Given the description of an element on the screen output the (x, y) to click on. 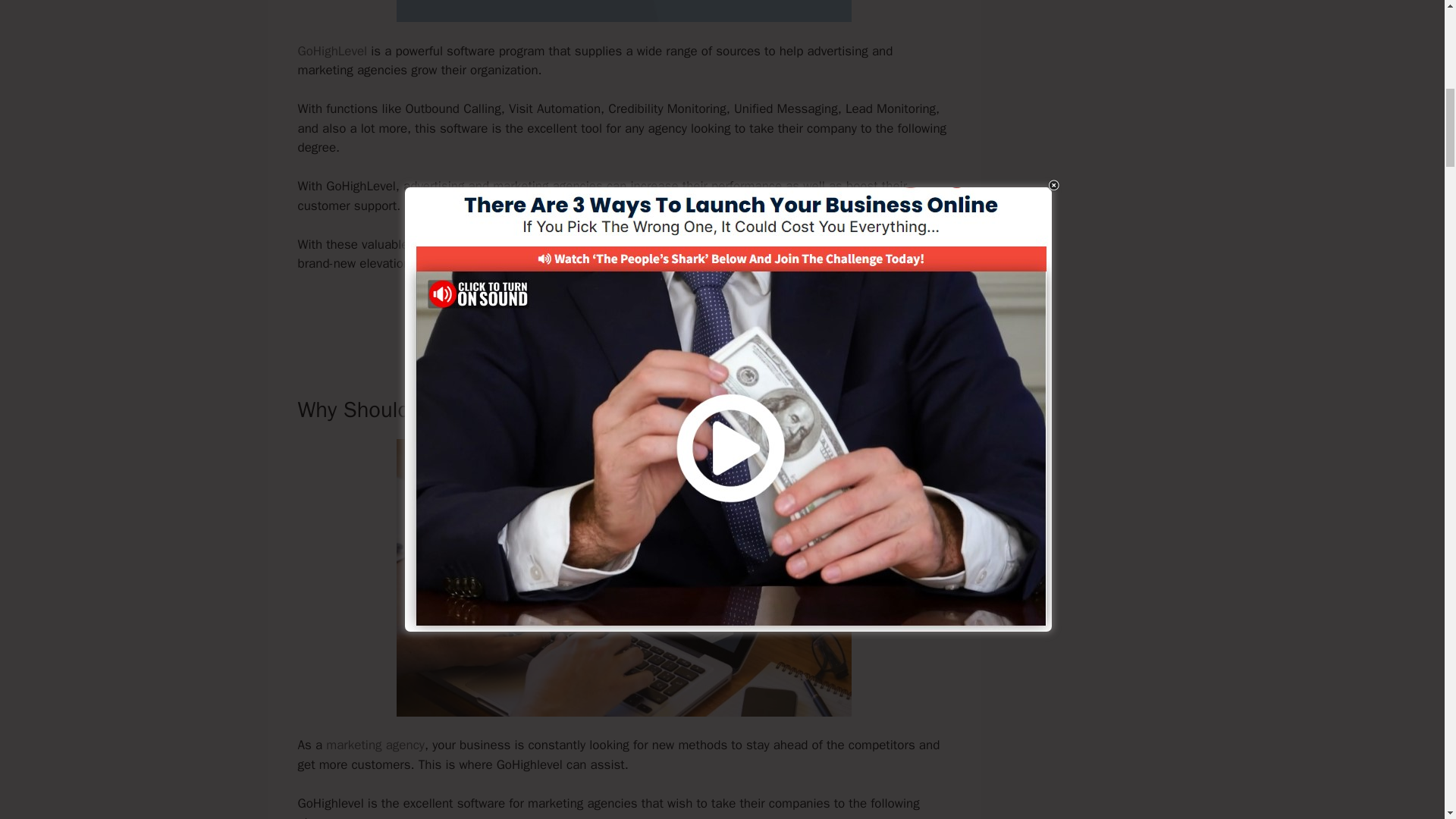
GoHighLevel (331, 50)
marketing agency (375, 744)
Visit Here To See HighLevel In Action (623, 315)
